Given the description of an element on the screen output the (x, y) to click on. 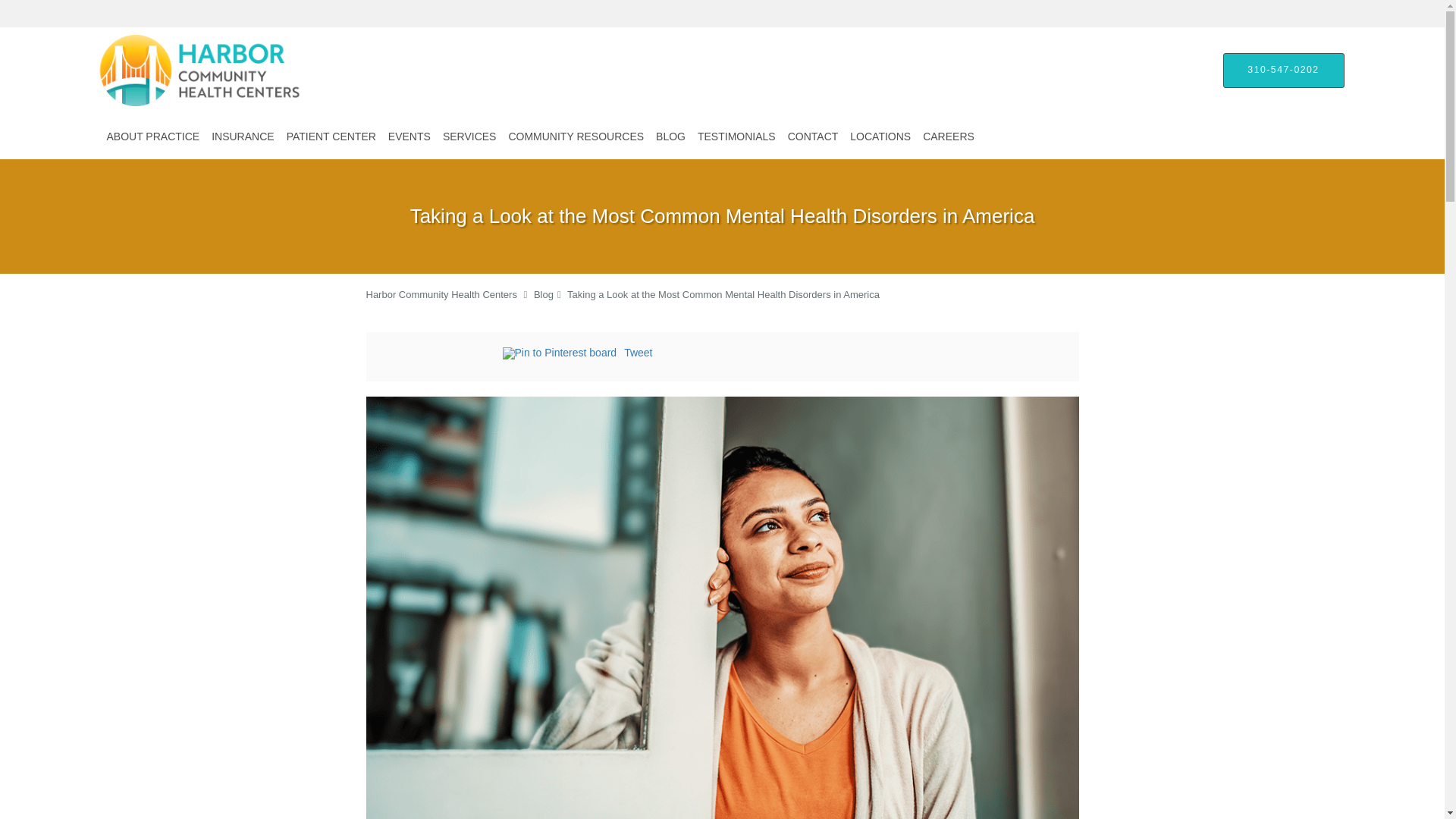
CONTACT (812, 136)
Facebook social button (441, 355)
SERVICES (469, 136)
BLOG (670, 136)
INSURANCE (242, 136)
310-547-0202 (1283, 70)
CAREERS (948, 136)
TESTIMONIALS (736, 136)
COMMUNITY RESOURCES (575, 136)
ABOUT PRACTICE (152, 136)
Harbor Community Health Centers (440, 294)
PATIENT CENTER (331, 136)
Blog (543, 294)
EVENTS (408, 136)
